Given the description of an element on the screen output the (x, y) to click on. 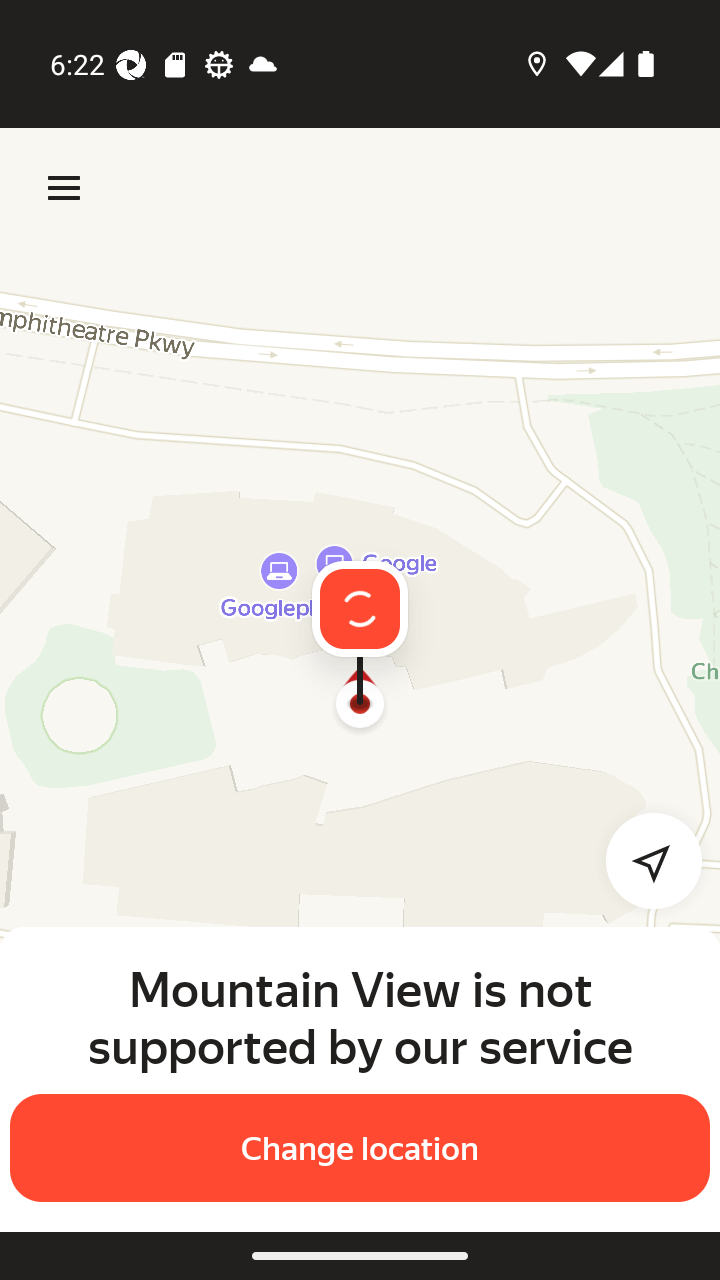
Menu Menu Menu (64, 188)
Detect my location (641, 860)
Mountain View is not supported by our service (360, 1017)
Change location (359, 1147)
